Given the description of an element on the screen output the (x, y) to click on. 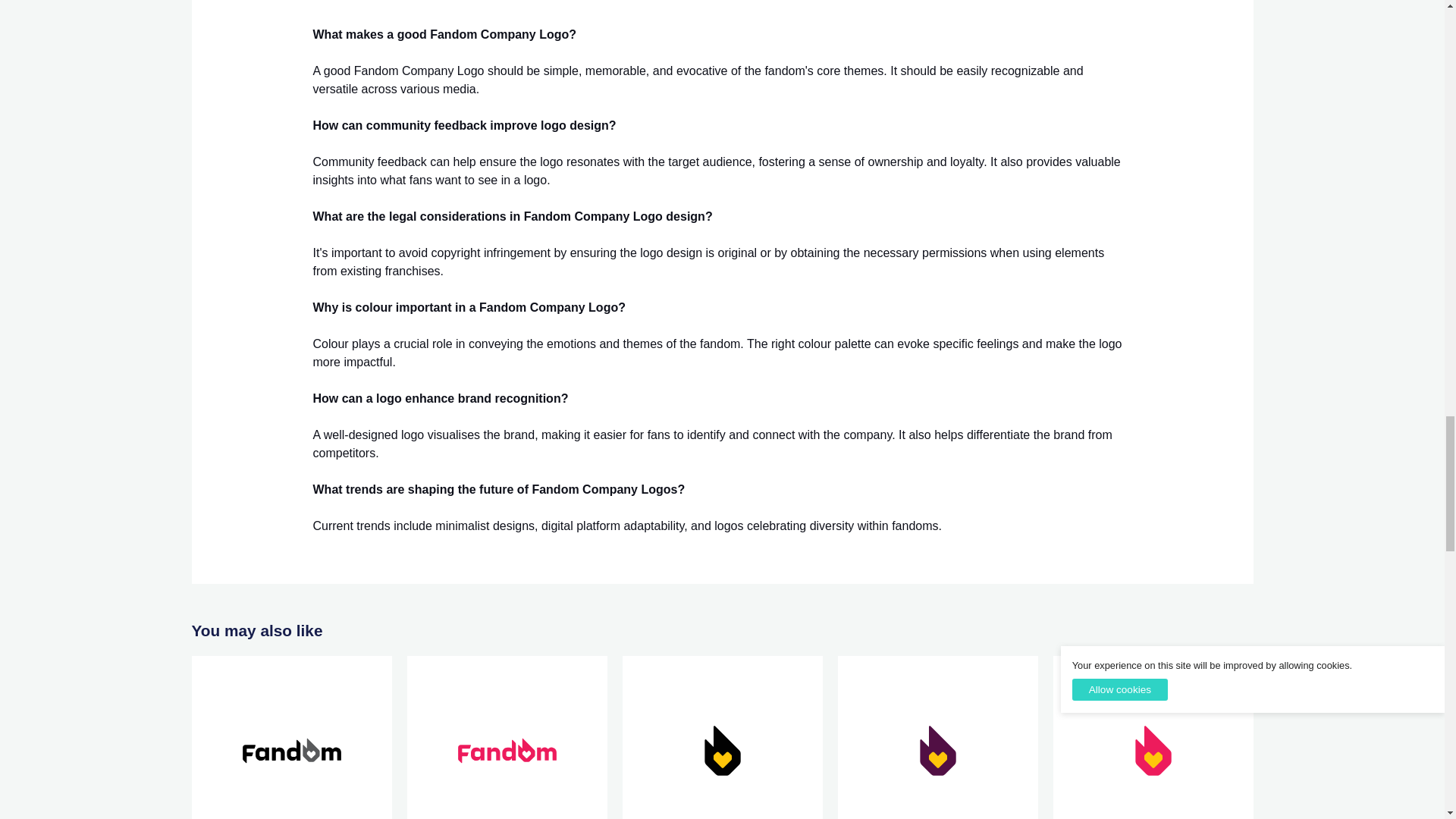
Pink Color Fandom Logo (506, 744)
Black Color Fandom Symbol Logo (721, 744)
Black Color Fandom Symbol Logo (721, 744)
Black Color Fandom Logo (290, 744)
Pink Color Fandom Symbol Logo (1152, 744)
Purple Color Fandom Symbol Logo (936, 744)
Purple Color Fandom Symbol Logo (936, 744)
Black Color Fandom Logo (290, 744)
Pink Color Fandom Logo (506, 744)
